Given the description of an element on the screen output the (x, y) to click on. 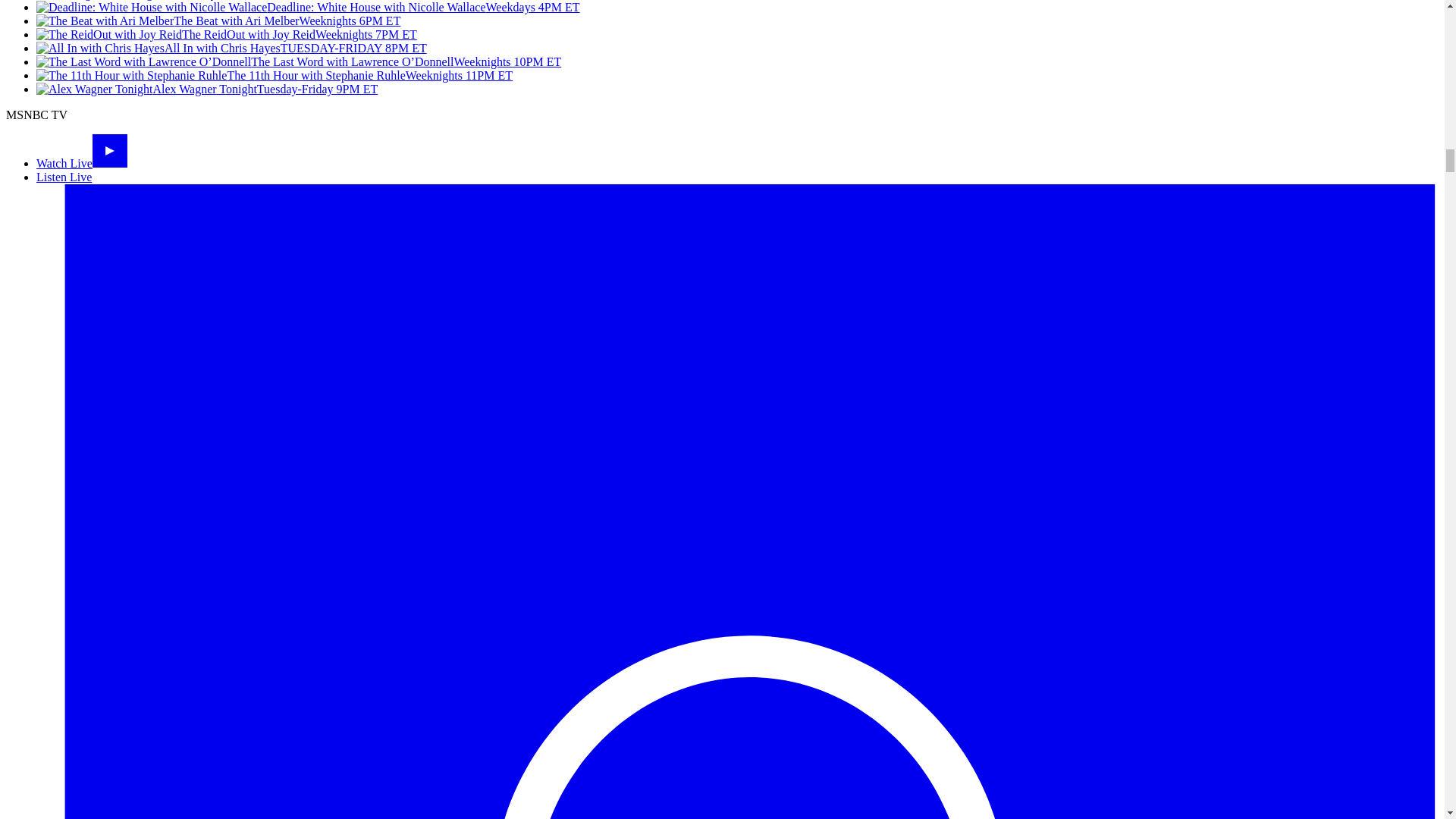
The Beat with Ari MelberWeeknights 6PM ET (218, 20)
Watch Live (82, 163)
Alex Wagner TonightTuesday-Friday 9PM ET (206, 88)
All In with Chris HayesTUESDAY-FRIDAY 8PM ET (231, 47)
The 11th Hour with Stephanie RuhleWeeknights 11PM ET (274, 74)
Deadline: White House with Nicolle WallaceWeekdays 4PM ET (307, 6)
The ReidOut with Joy ReidWeeknights 7PM ET (226, 33)
